Given the description of an element on the screen output the (x, y) to click on. 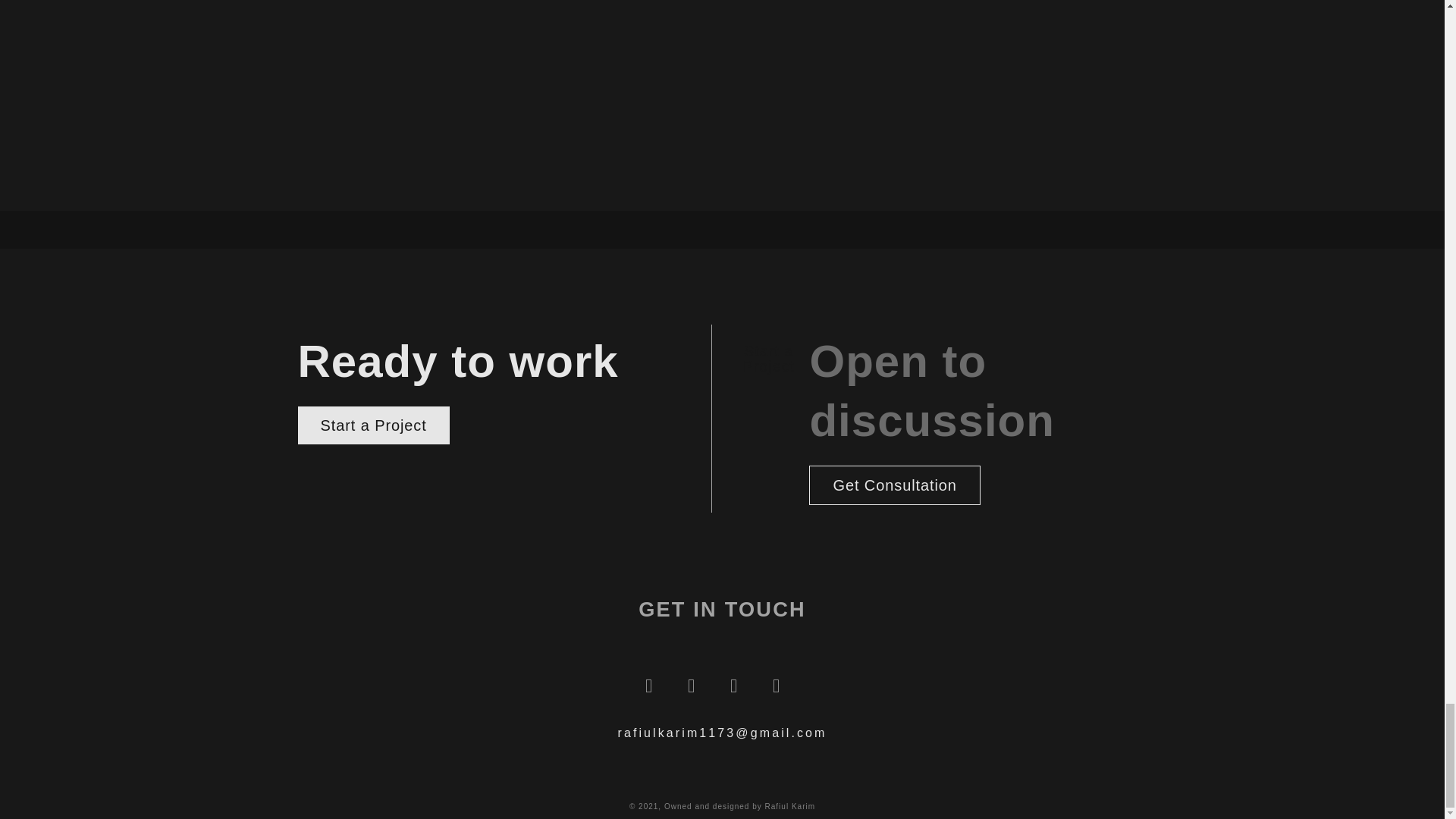
Start a Project (767, 358)
Get Consultation (894, 485)
Start a Project (372, 425)
